Given the description of an element on the screen output the (x, y) to click on. 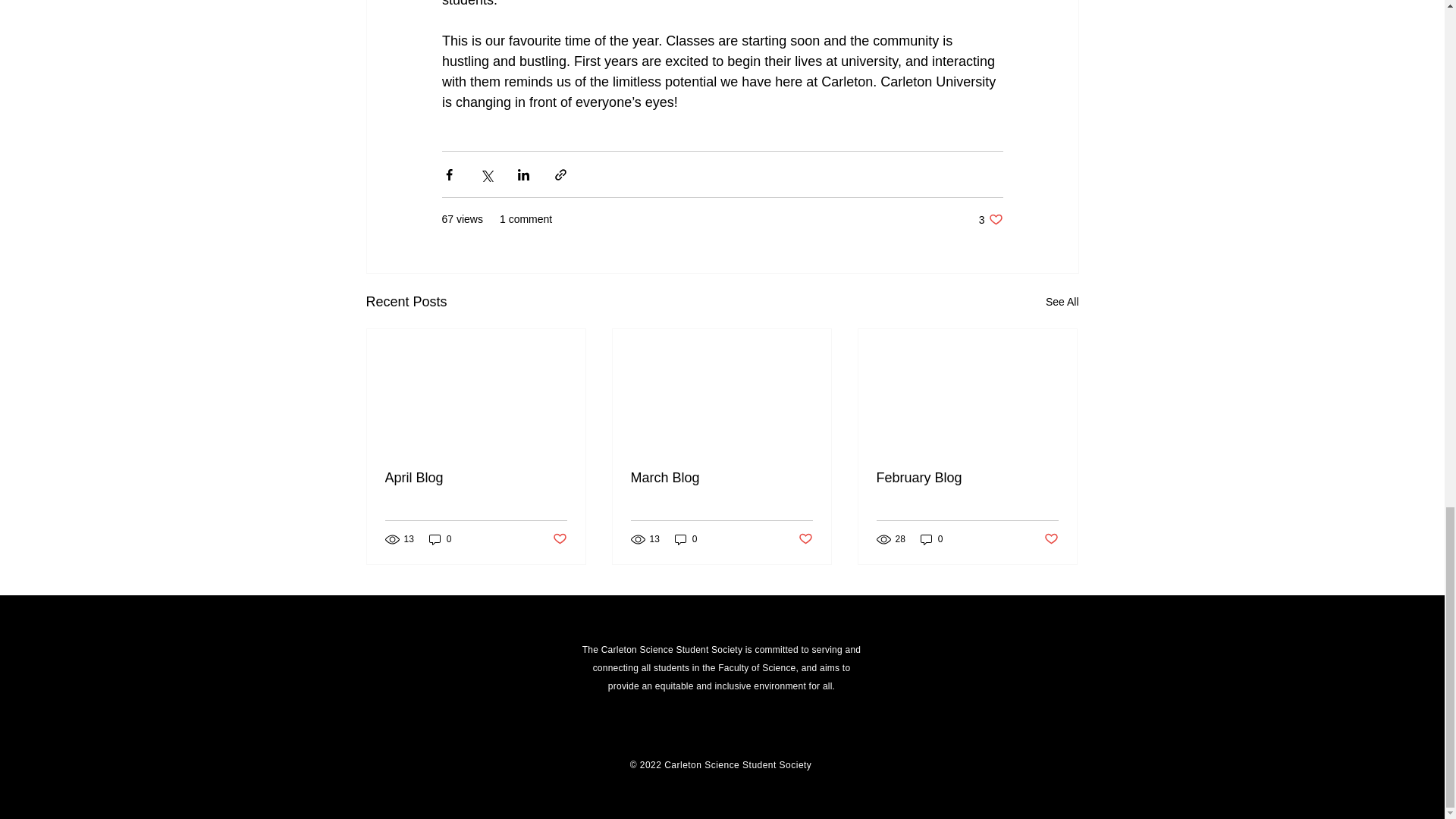
Post not marked as liked (558, 539)
See All (1061, 301)
Post not marked as liked (804, 539)
April Blog (476, 478)
March Blog (990, 219)
0 (721, 478)
0 (685, 538)
